Given the description of an element on the screen output the (x, y) to click on. 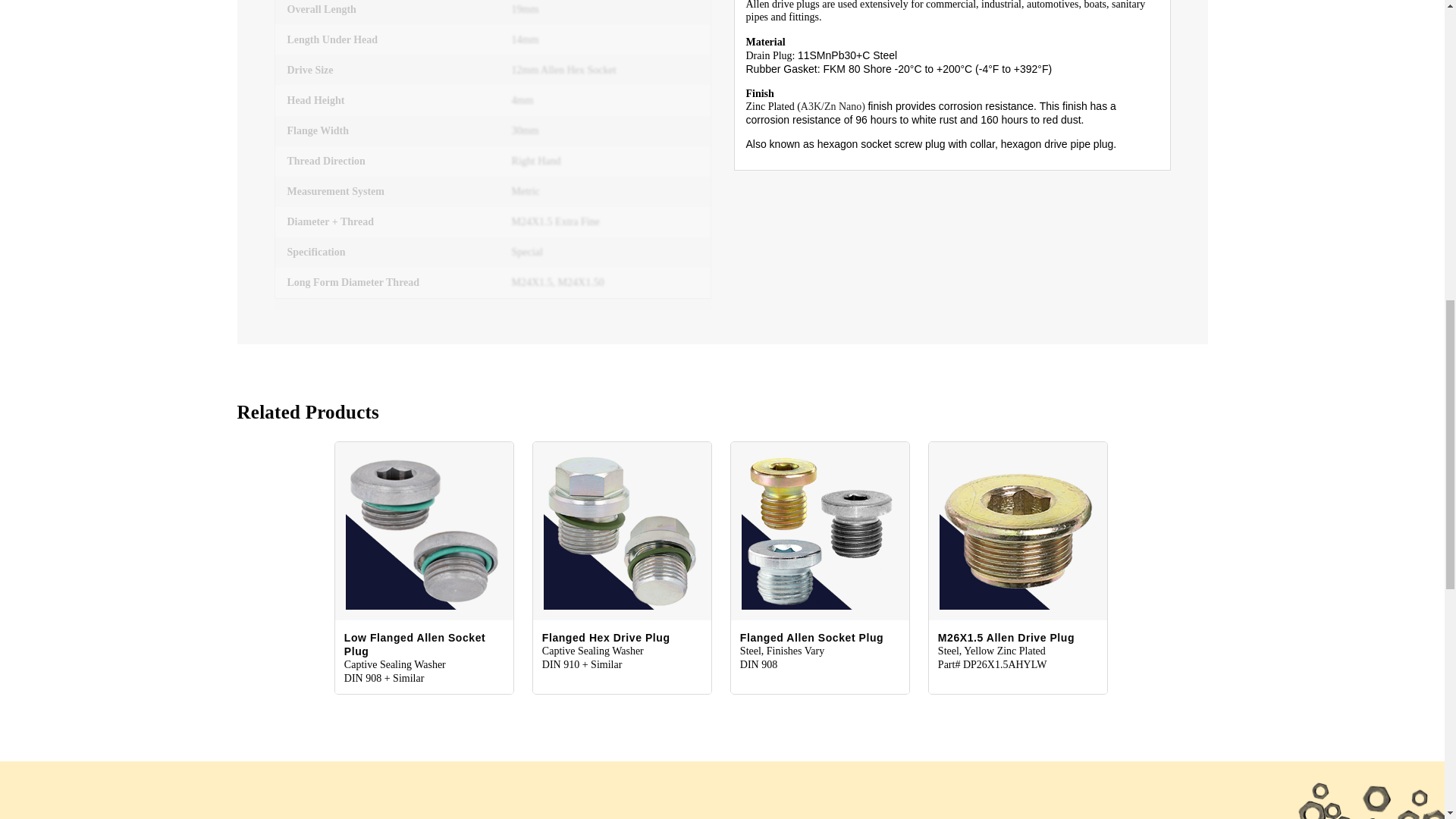
Steel Allen Socket Metric Drain Plug DIN 908 (819, 530)
M26X1.5 Steel Allen Socket Metric Drain Plug DIN 908 (1017, 530)
Steel Head Head Drain Plug with Captive Seal, Zinc Plated (621, 530)
